Given the description of an element on the screen output the (x, y) to click on. 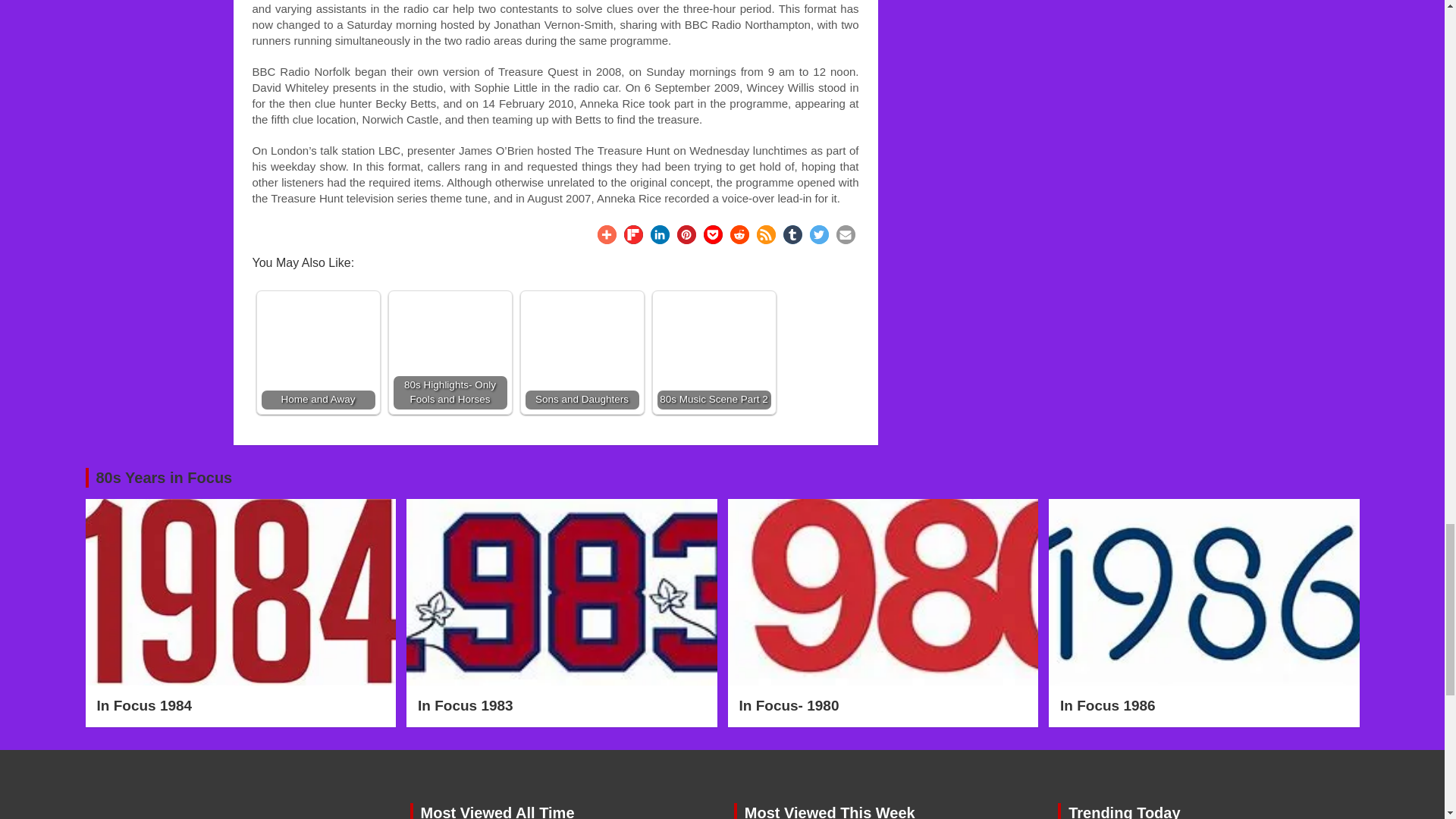
Share on AddThis (605, 234)
Share on Flipboard (632, 234)
Share on LinkedIn (659, 234)
